Given the description of an element on the screen output the (x, y) to click on. 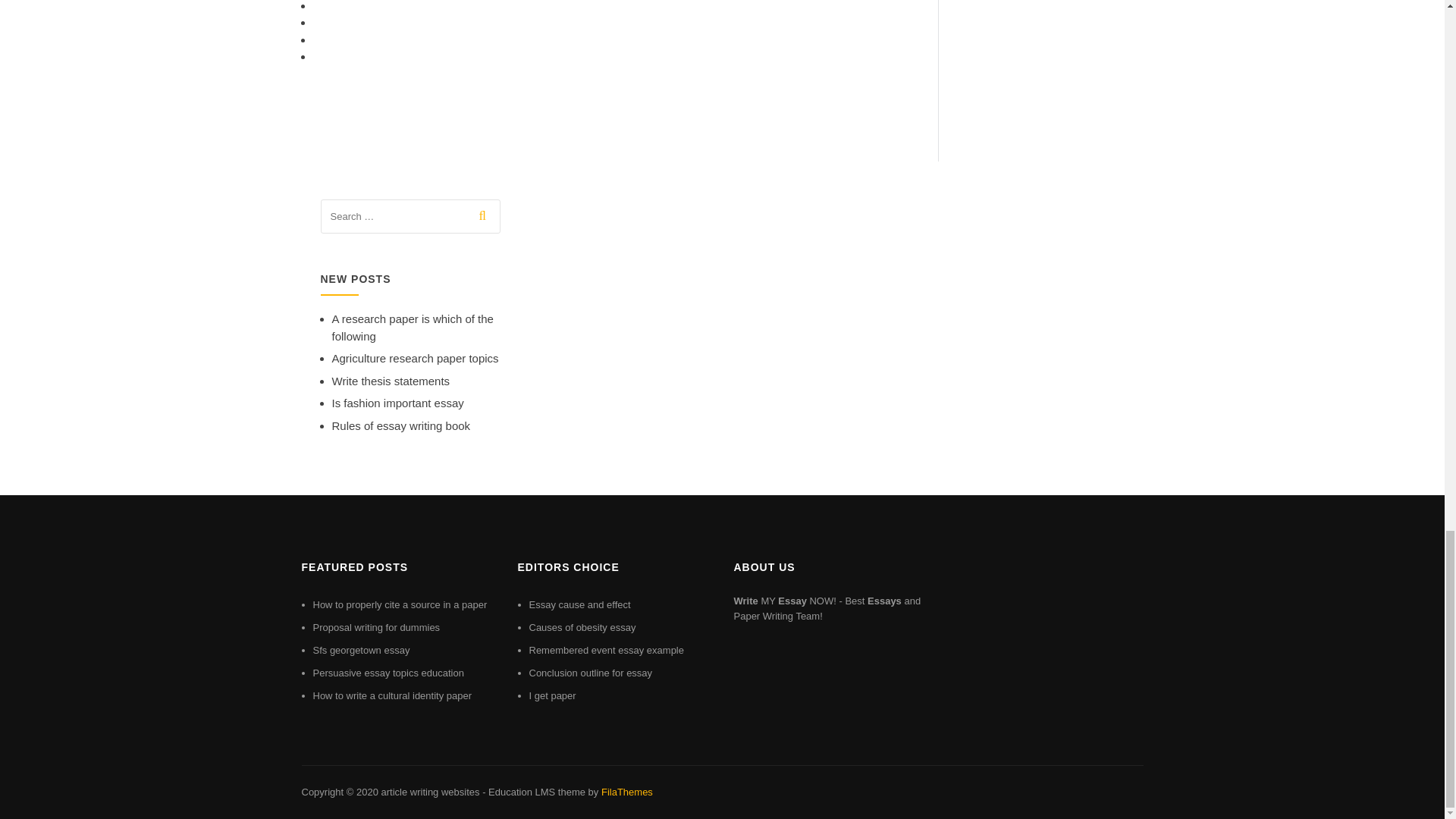
Persuasive essay topics education (388, 672)
Proposal writing for dummies (376, 627)
Remembered event essay example (606, 650)
How to write a cultural identity paper (392, 695)
I get paper (552, 695)
Causes of obesity essay (582, 627)
Agriculture research paper topics (415, 358)
article writing websites (429, 791)
Is fashion important essay (397, 402)
Sfs georgetown essay (361, 650)
